Given the description of an element on the screen output the (x, y) to click on. 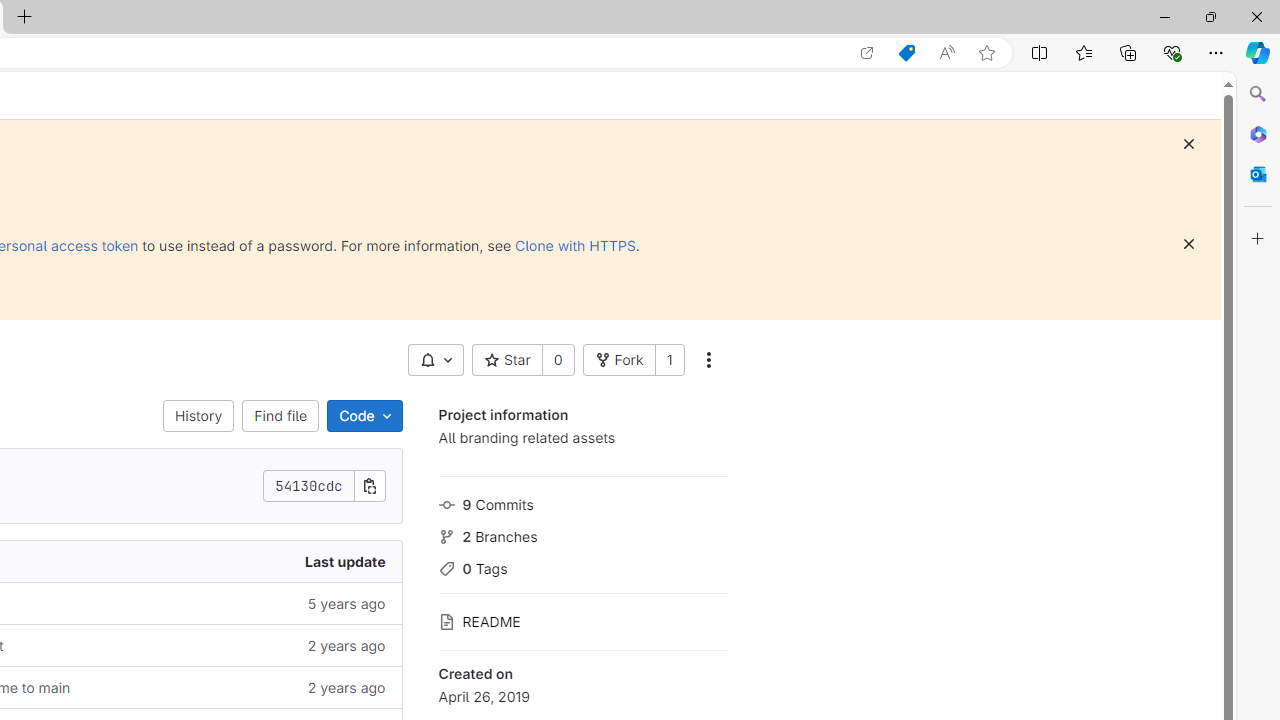
0 (557, 359)
0 Tags (582, 566)
Fork (618, 359)
Shopping in Microsoft Edge (906, 53)
README (582, 620)
1 (669, 359)
Open in app (867, 53)
5 years ago (247, 602)
Clone with HTTPS (575, 245)
